Given the description of an element on the screen output the (x, y) to click on. 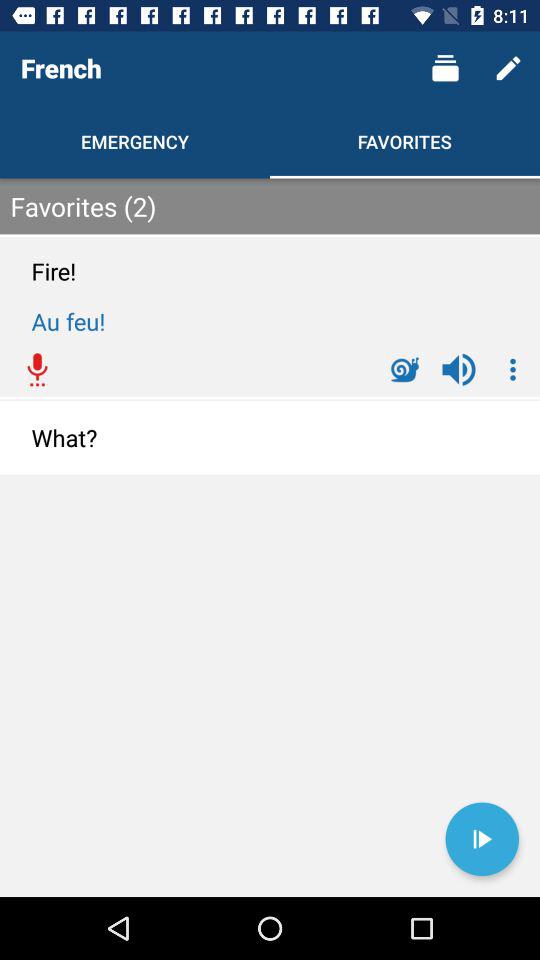
turn off icon next to french (444, 67)
